Given the description of an element on the screen output the (x, y) to click on. 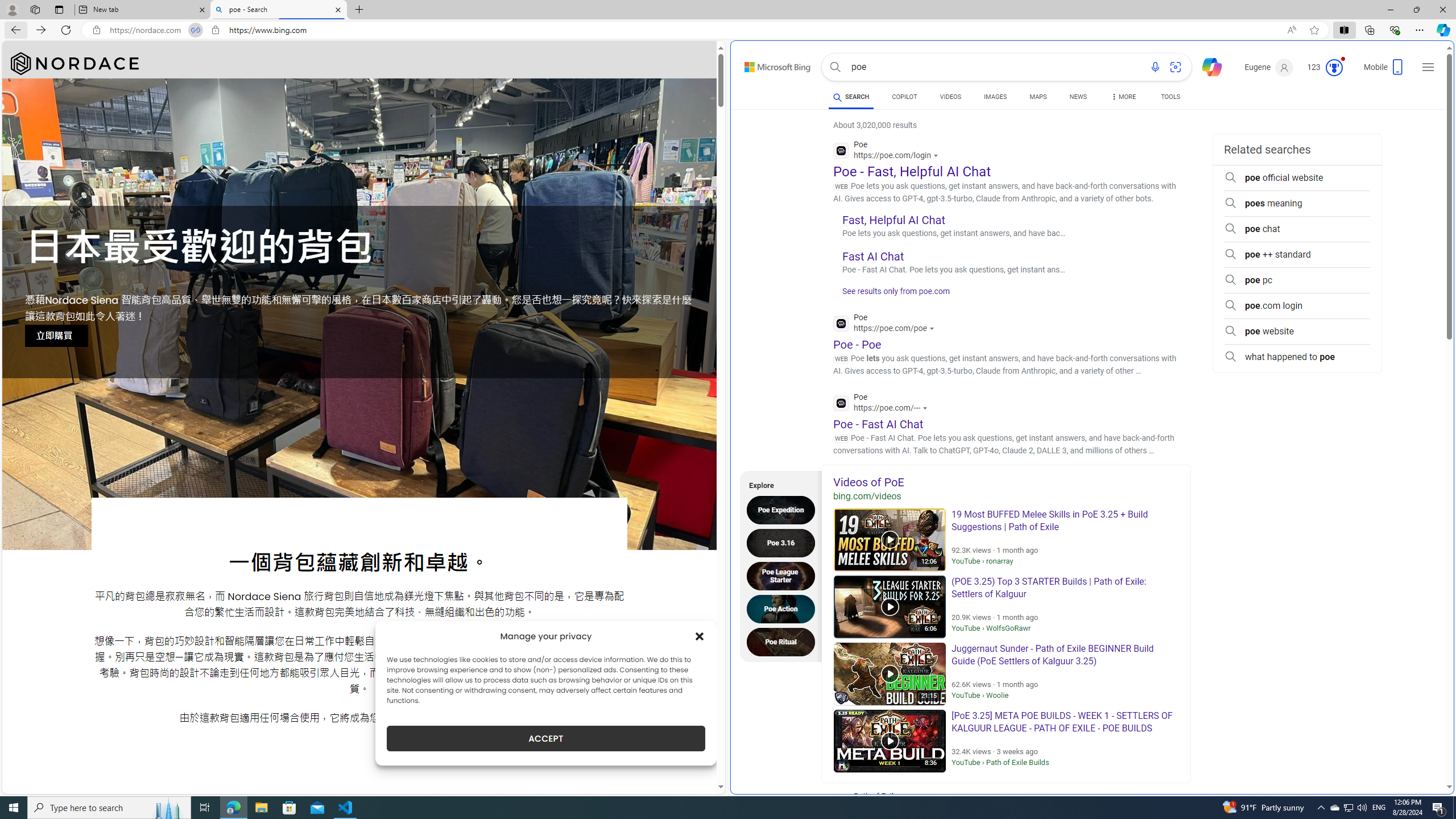
AutomationID: mfa_root (1406, 752)
Tabs in split screen (194, 29)
Poe (882, 403)
See results only from poe.com (891, 294)
Microsoft Rewards 123 (1325, 67)
Fast AI Chat (873, 255)
Forward (40, 29)
